Given the description of an element on the screen output the (x, y) to click on. 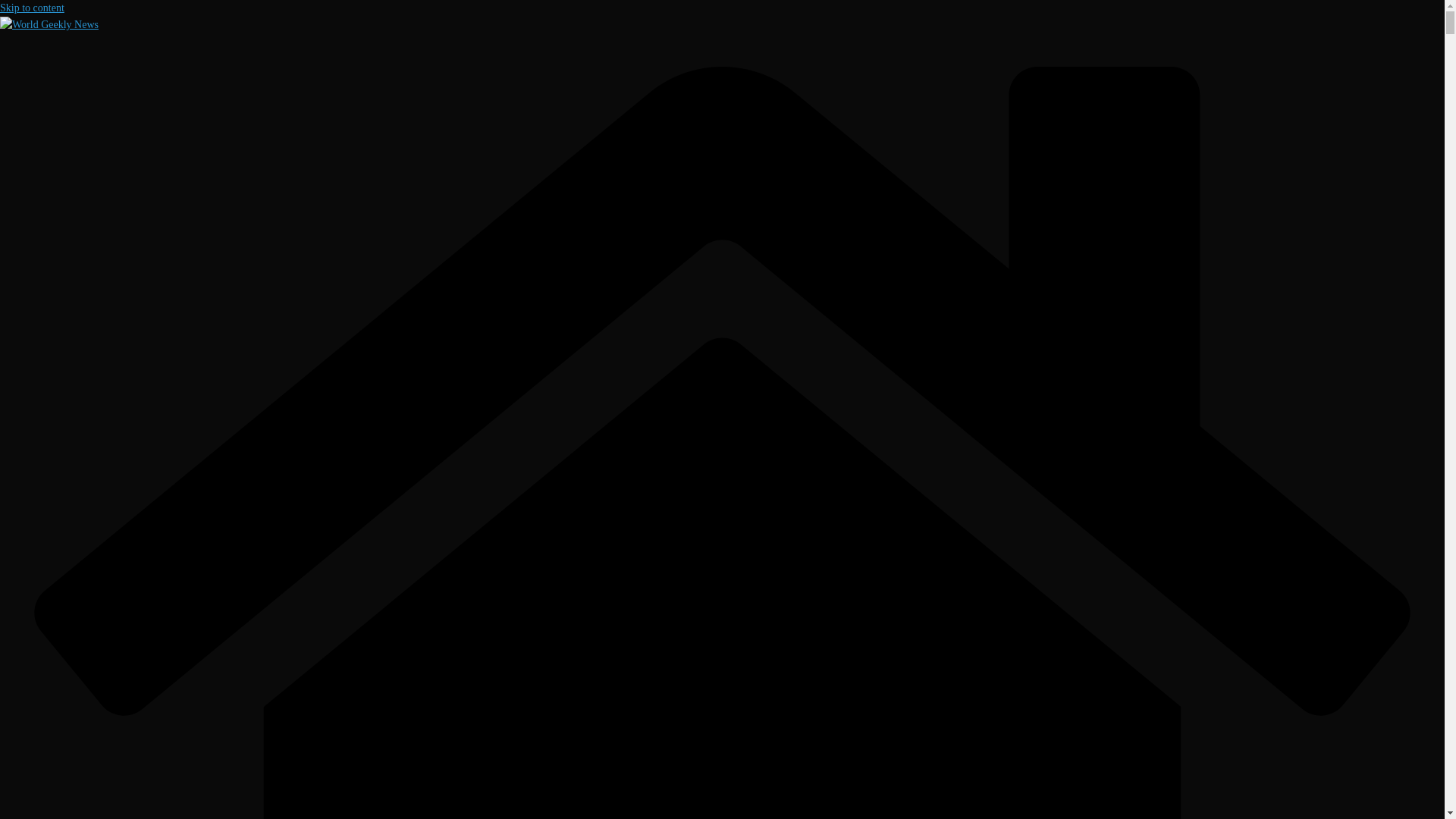
Skip to content (32, 7)
World Geekly News (49, 24)
